Given the description of an element on the screen output the (x, y) to click on. 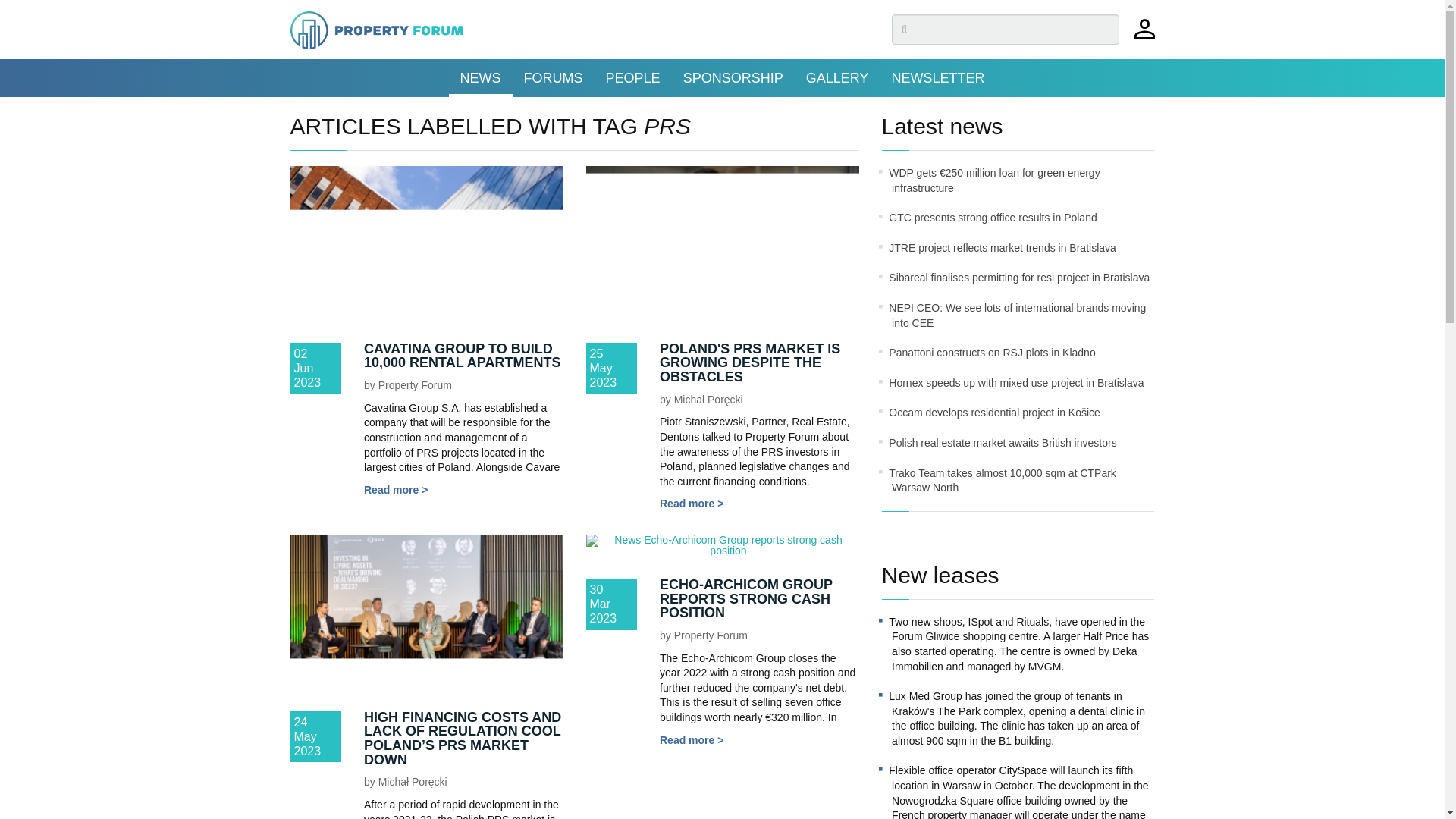
CAVATINA GROUP TO BUILD 10,000 RENTAL APARTMENTS (462, 356)
SPONSORSHIP (732, 77)
Signed out (1144, 36)
FORUMS (553, 77)
GALLERY (837, 77)
PEOPLE (632, 77)
NEWSLETTER (937, 77)
POLAND'S PRS MARKET IS GROWING DESPITE THE OBSTACLES (749, 362)
NEWS (480, 77)
